Given the description of an element on the screen output the (x, y) to click on. 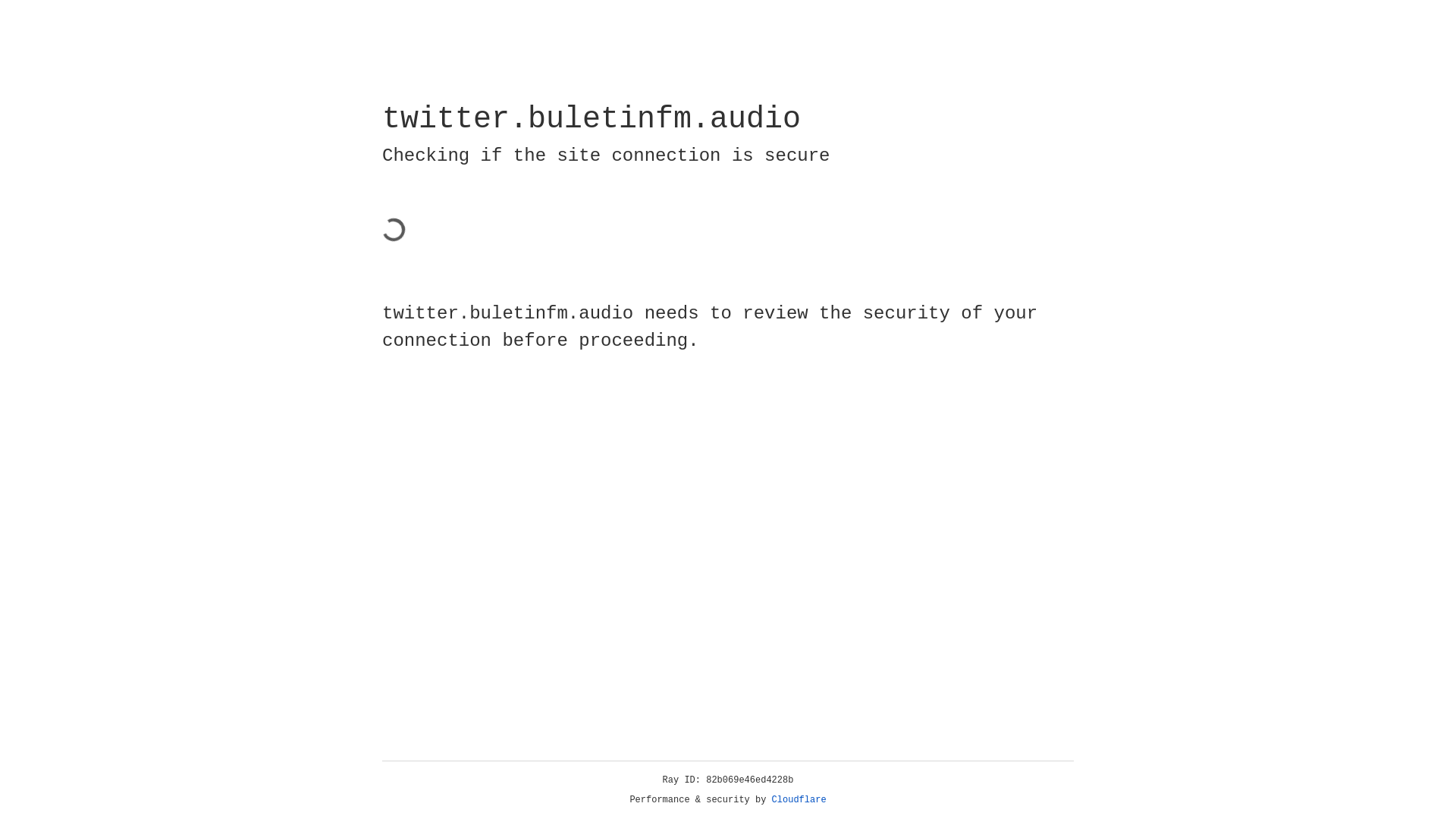
Cloudflare Element type: text (798, 799)
